Given the description of an element on the screen output the (x, y) to click on. 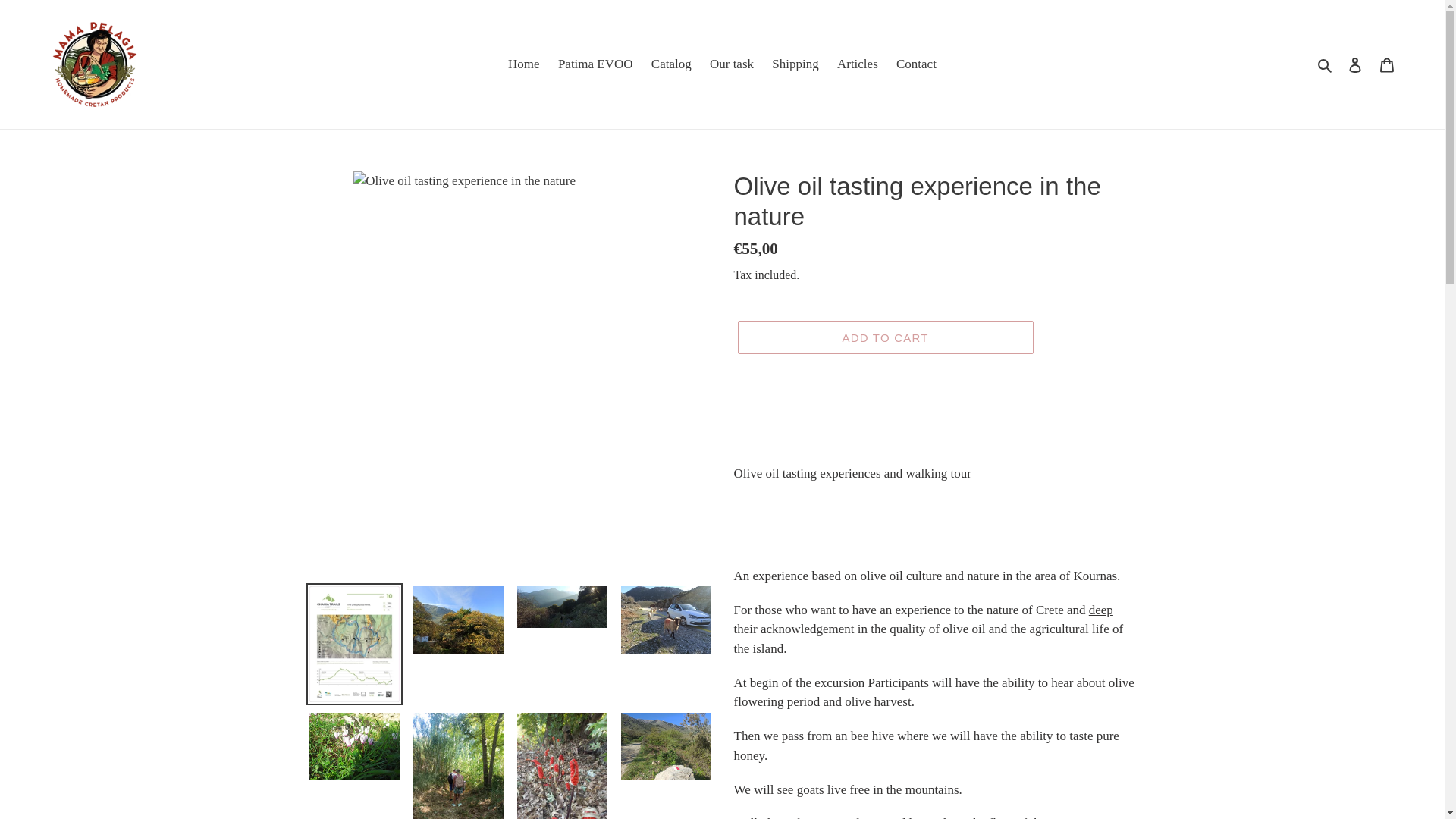
Articles (857, 64)
Cart (1387, 63)
Shipping (794, 64)
Catalog (670, 64)
Search (1326, 64)
Contact (915, 64)
Our task (731, 64)
Home (523, 64)
Log in (1355, 63)
Patima EVOO (595, 64)
